Given the description of an element on the screen output the (x, y) to click on. 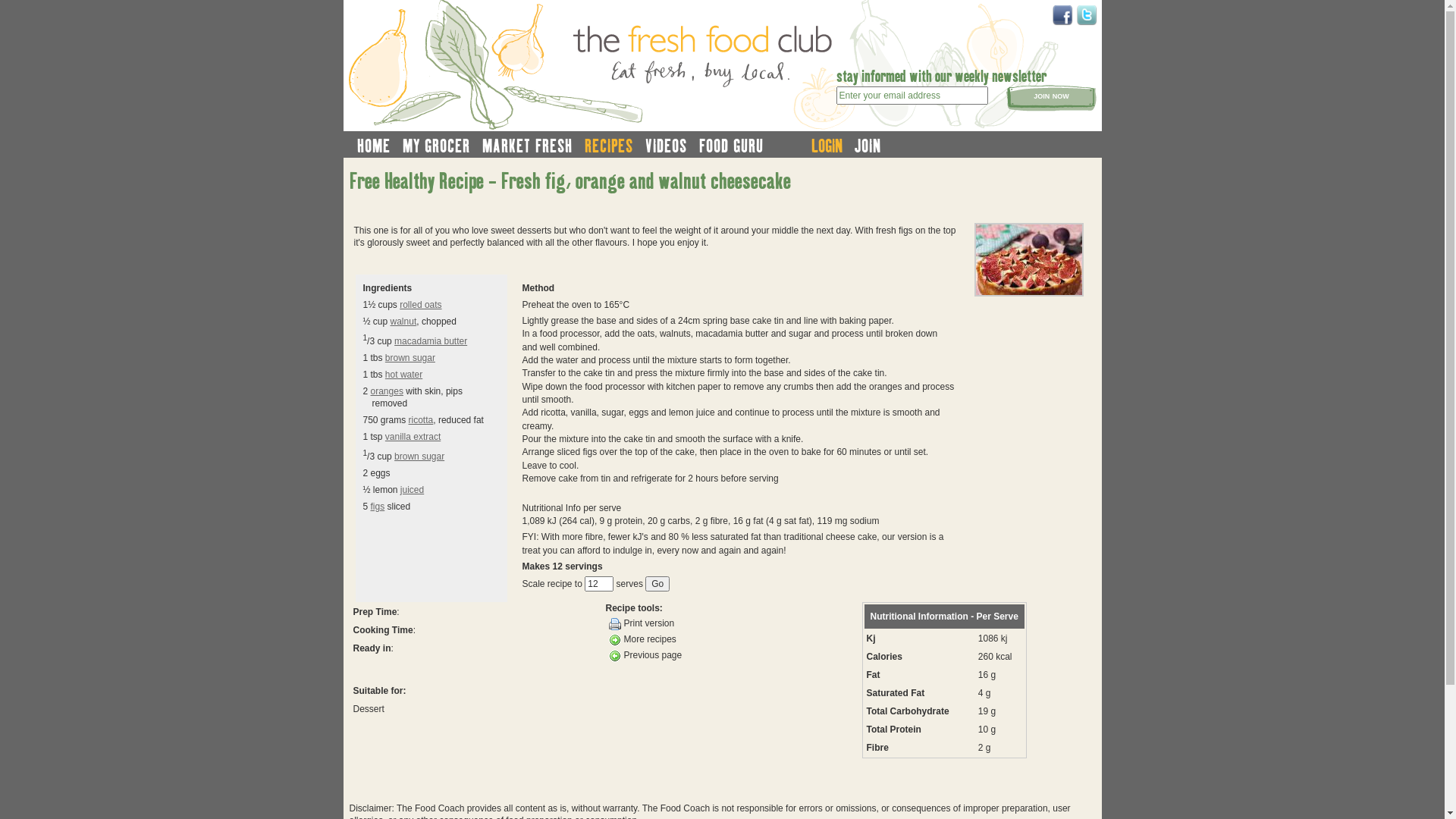
juiced Element type: text (411, 489)
figs Element type: text (377, 506)
More recipes Element type: text (721, 639)
Facebook Element type: hover (1062, 14)
Twitter Element type: hover (1085, 14)
oranges Element type: text (386, 390)
Print version Element type: text (721, 623)
FOOD GURU Element type: text (731, 145)
RECIPES Element type: text (607, 145)
hot water Element type: text (403, 374)
macadamia butter Element type: text (430, 340)
Back Element type: hover (614, 655)
join now Element type: text (1050, 97)
VIDEOS Element type: text (665, 145)
More recipes Element type: hover (614, 639)
Previous page Element type: text (721, 655)
Print Element type: hover (614, 624)
brown sugar Element type: text (410, 357)
brown sugar Element type: text (419, 456)
vanilla extract Element type: text (412, 436)
MY GROCER Element type: text (435, 145)
ricotta Element type: text (420, 419)
MARKET FRESH Element type: text (527, 145)
Go Element type: text (657, 583)
walnut Element type: text (403, 321)
HOME Element type: text (372, 145)
JOIN Element type: text (866, 145)
rolled oats Element type: text (420, 304)
